Given the description of an element on the screen output the (x, y) to click on. 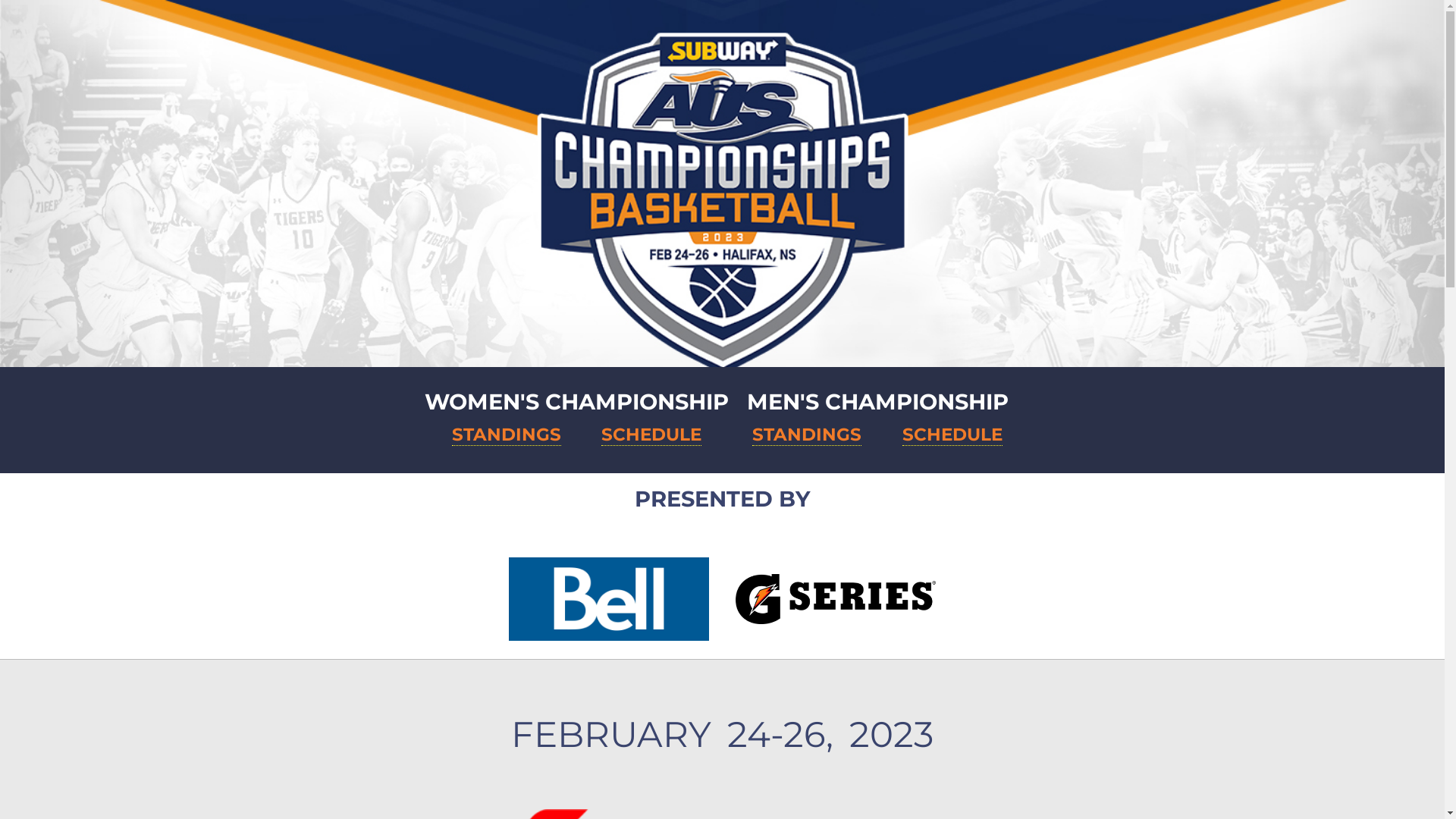
SCHEDULE Element type: text (651, 434)
SCHEDULE Element type: text (952, 434)
BELL Element type: text (608, 598)
STANDINGS Element type: text (506, 434)
STANDINGS Element type: text (806, 434)
G SERIES Element type: text (835, 598)
